Given the description of an element on the screen output the (x, y) to click on. 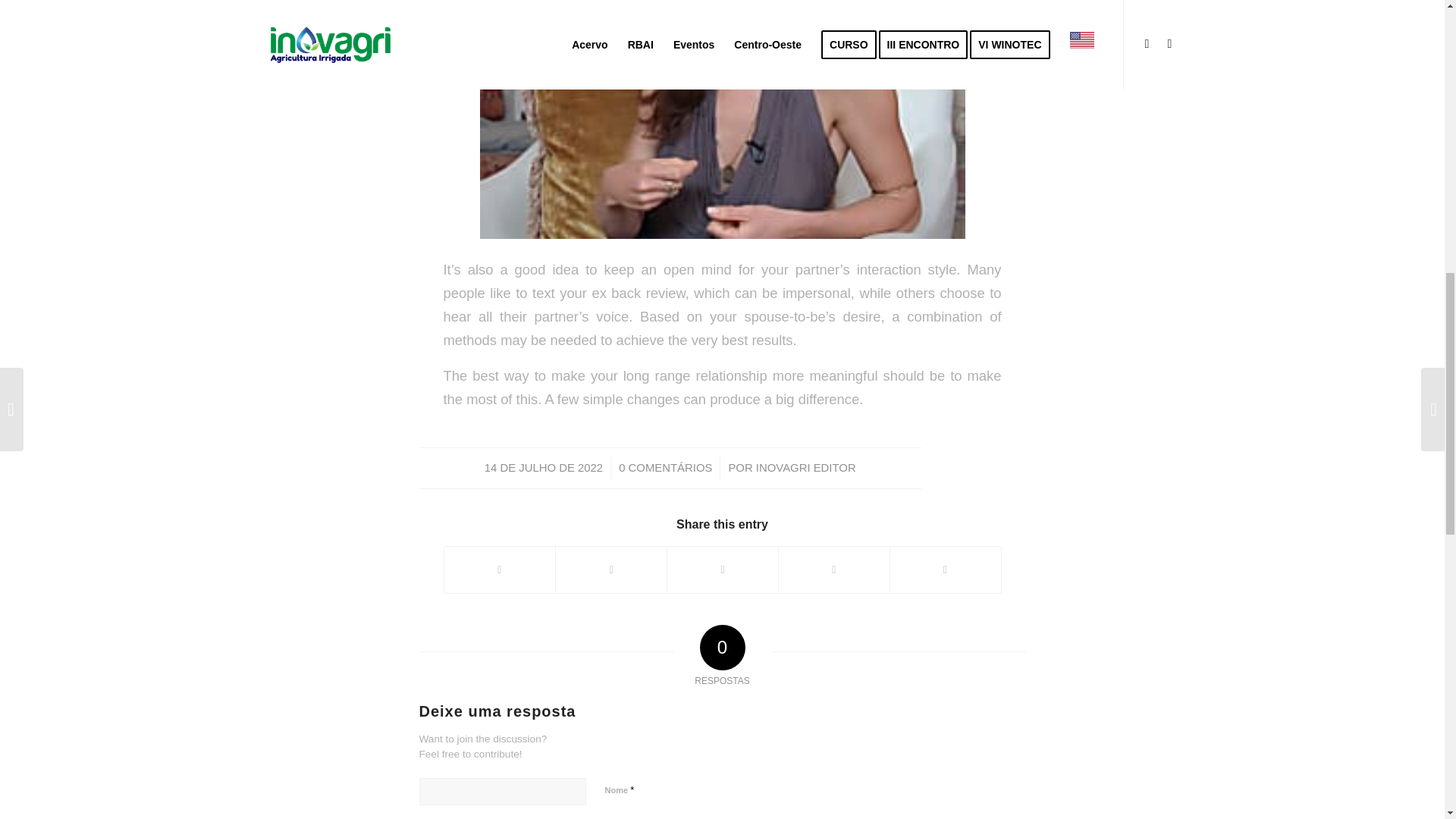
INOVAGRI EDITOR (805, 467)
Posts de Inovagri Editor (805, 467)
